Given the description of an element on the screen output the (x, y) to click on. 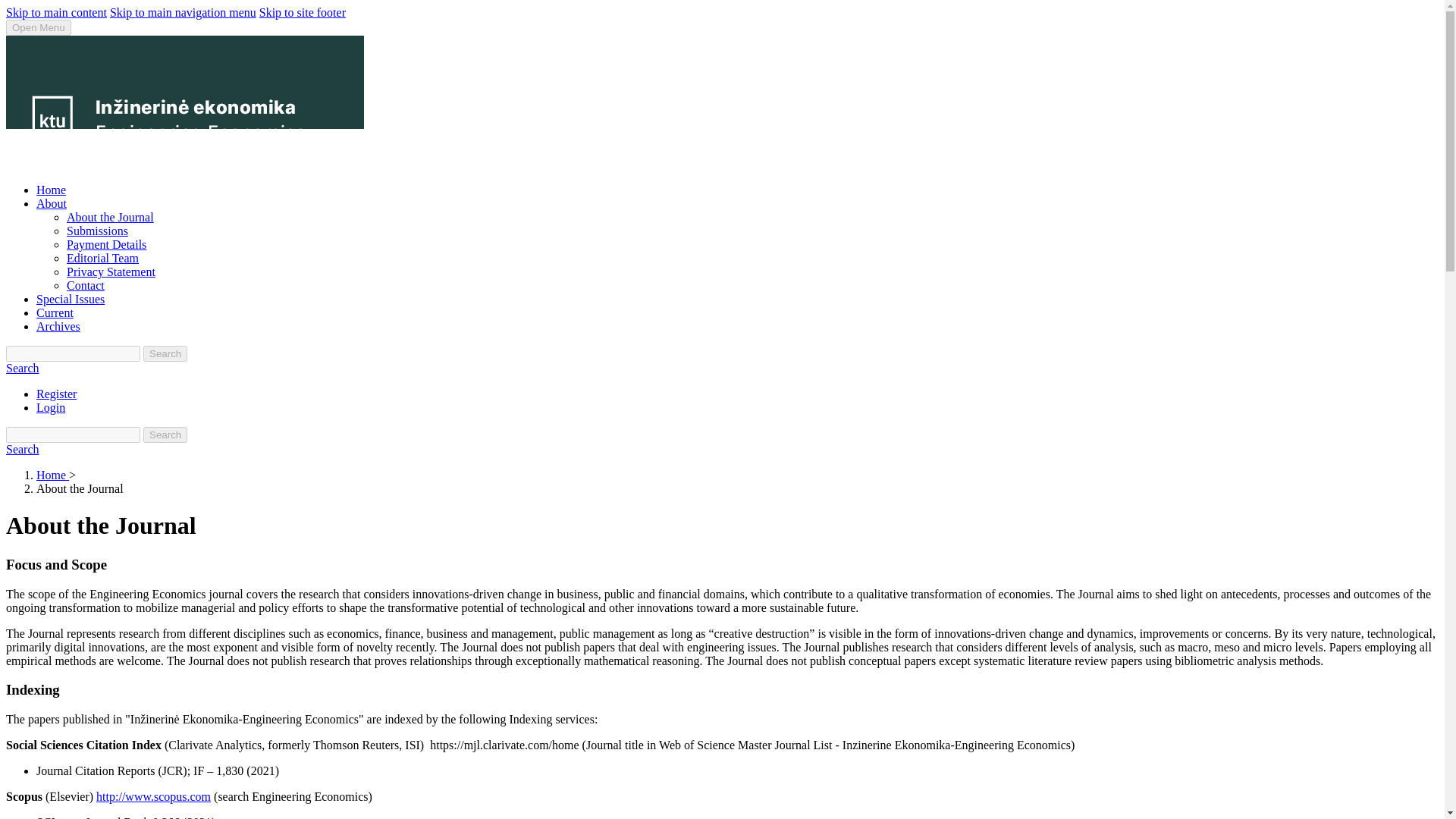
Submissions (97, 230)
Search (22, 449)
About the Journal (110, 216)
Search (164, 434)
Skip to main content (55, 11)
Skip to site footer (302, 11)
Search (164, 353)
Archives (58, 326)
Home (52, 474)
Search (22, 367)
